Given the description of an element on the screen output the (x, y) to click on. 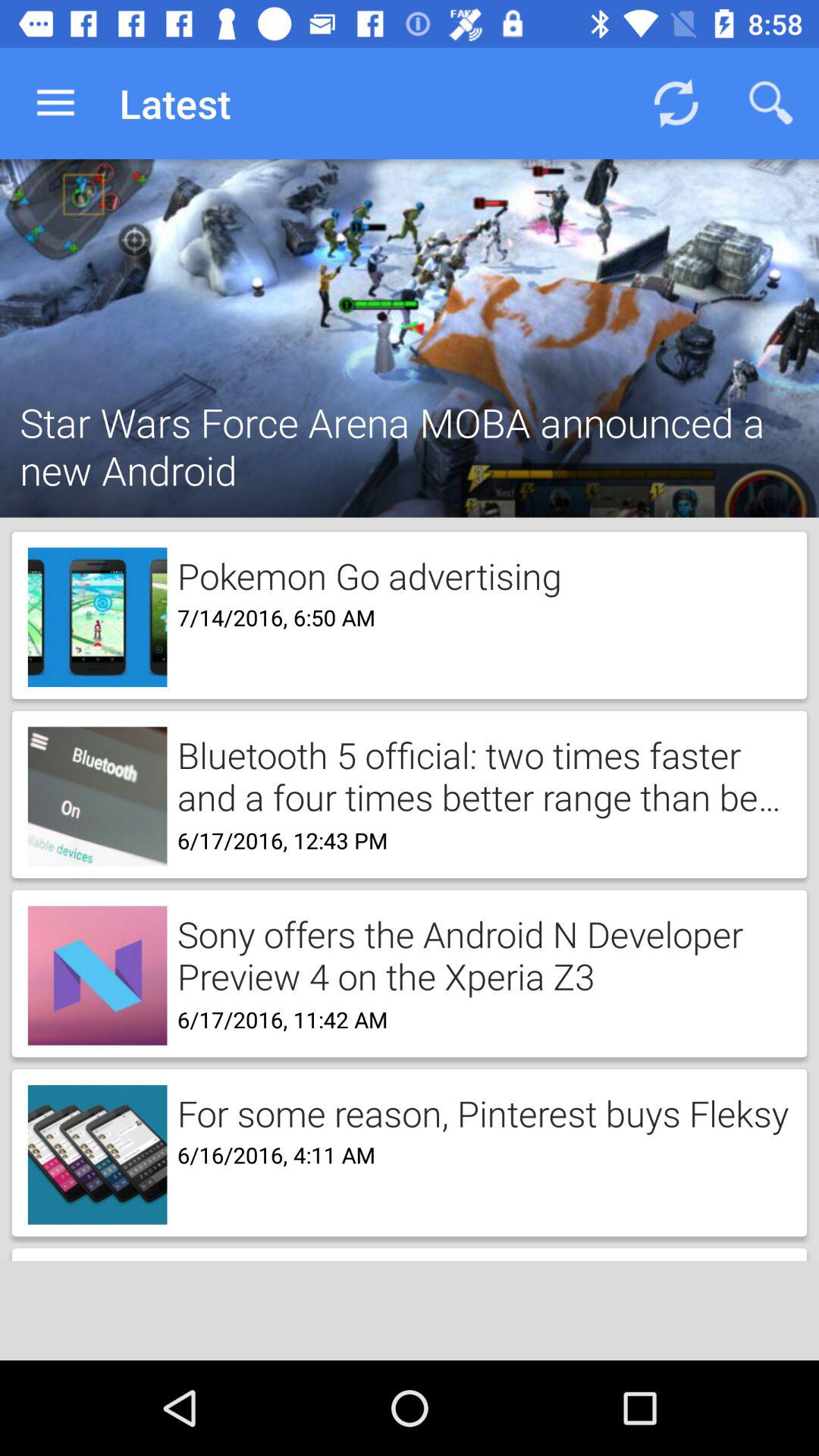
tap bluetooth 5 official item (479, 774)
